Given the description of an element on the screen output the (x, y) to click on. 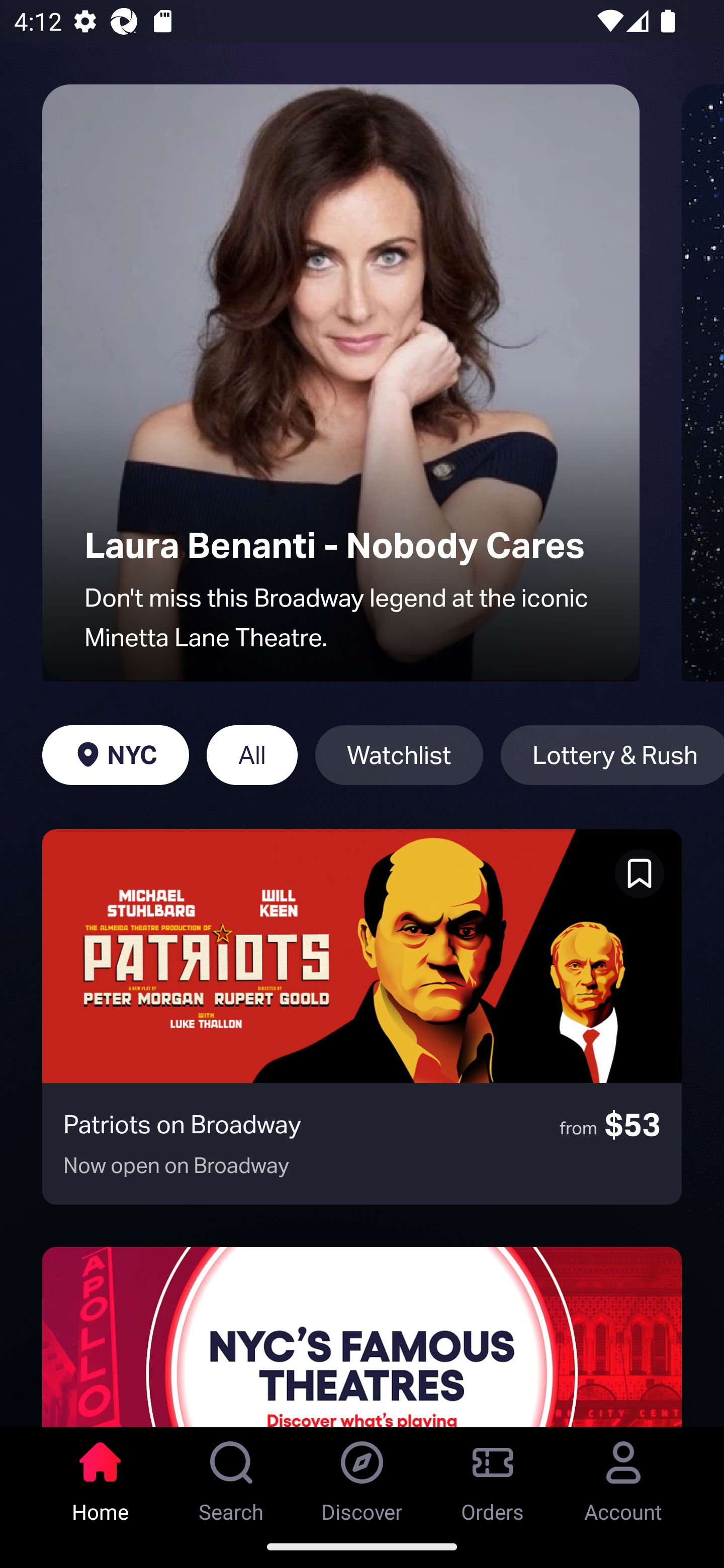
NYC (114, 754)
All (251, 754)
Watchlist (398, 754)
Lottery & Rush (612, 754)
Patriots on Broadway from $53 Now open on Broadway (361, 1016)
Search (230, 1475)
Discover (361, 1475)
Orders (492, 1475)
Account (623, 1475)
